Given the description of an element on the screen output the (x, y) to click on. 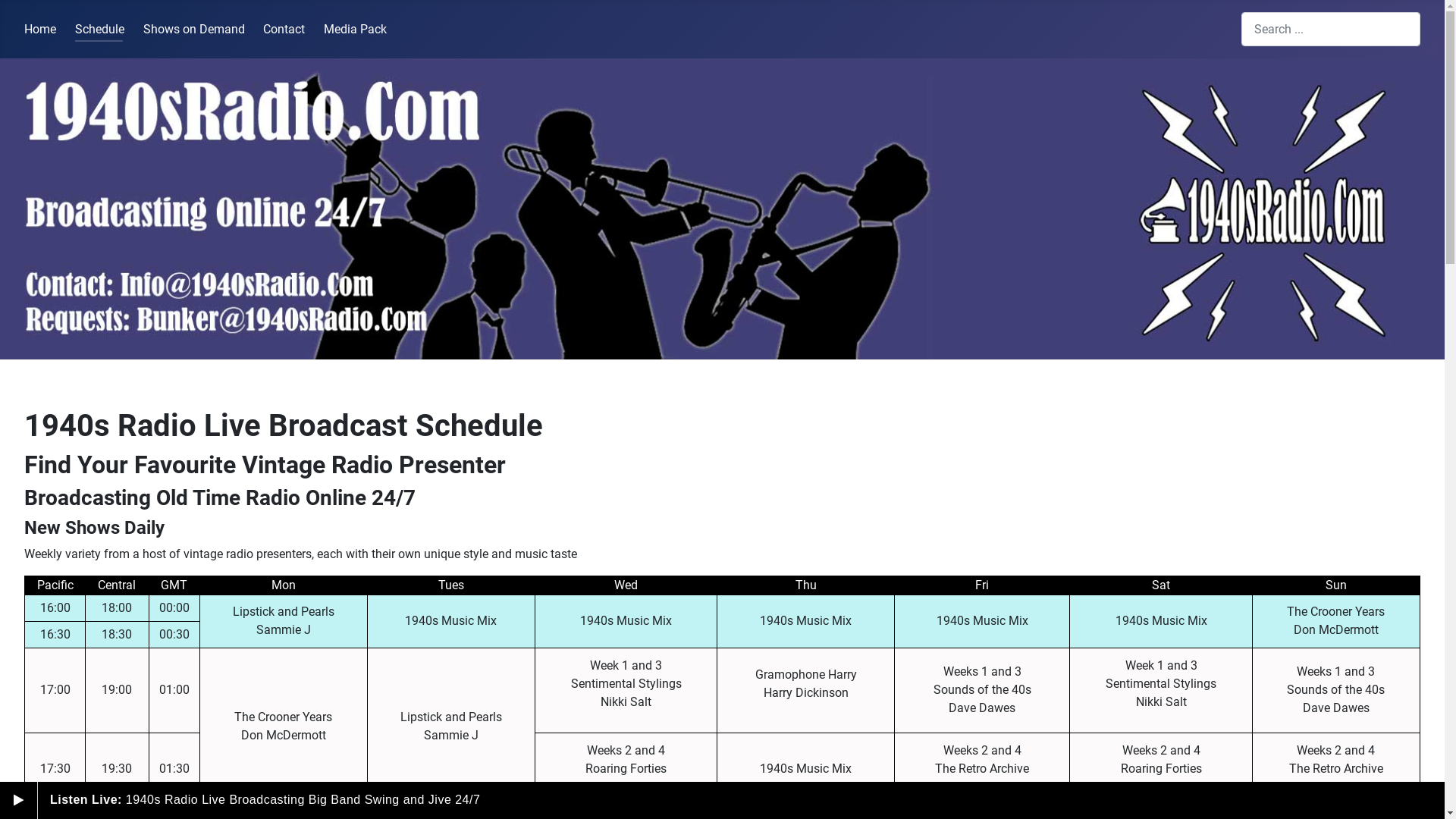
Media Pack Element type: text (354, 28)
Shows on Demand Element type: text (193, 28)
Contact Element type: text (283, 28)
Schedule Element type: text (99, 28)
Lindy Hop - Swing - Jive - Big Band - Jazz - Blues Element type: hover (722, 208)
Home Element type: text (40, 28)
